Given the description of an element on the screen output the (x, y) to click on. 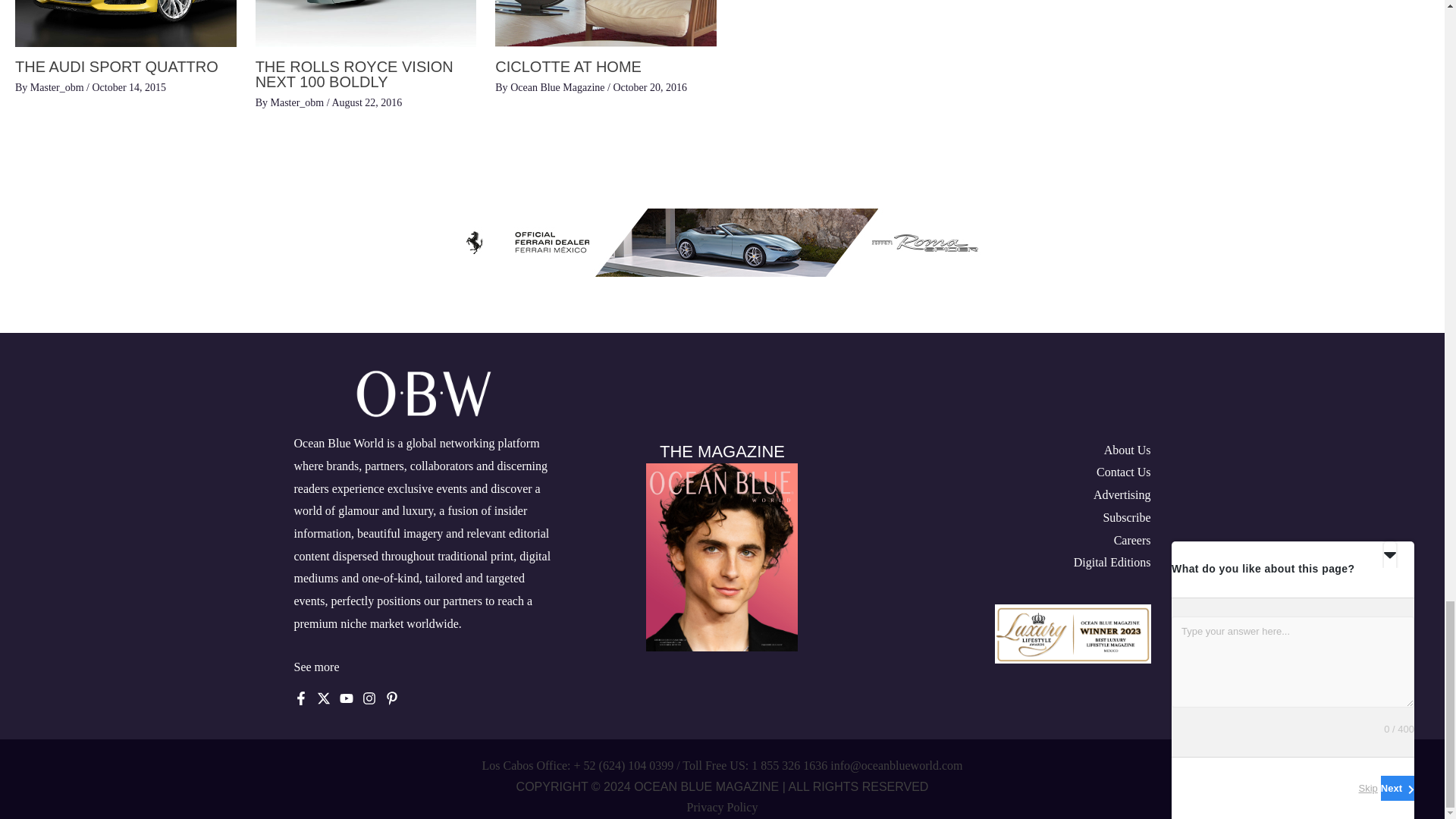
View all posts by Ocean Blue Magazine (559, 87)
